Given the description of an element on the screen output the (x, y) to click on. 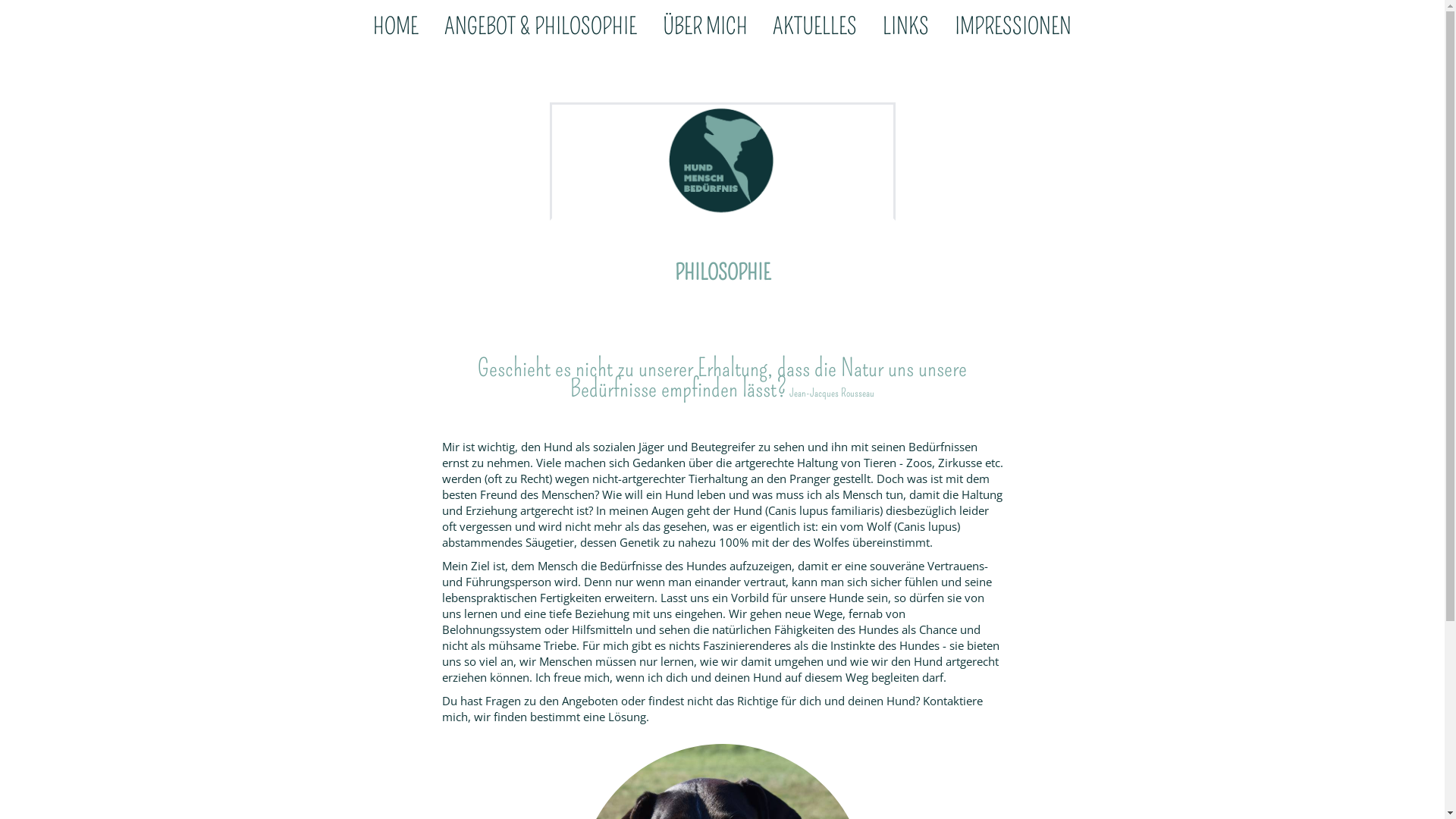
IMPRESSIONEN Element type: text (1012, 27)
LINKS Element type: text (905, 27)
AKTUELLES Element type: text (814, 27)
HOME Element type: text (395, 27)
ANGEBOT & PHILOSOPHIE Element type: text (540, 27)
